Given the description of an element on the screen output the (x, y) to click on. 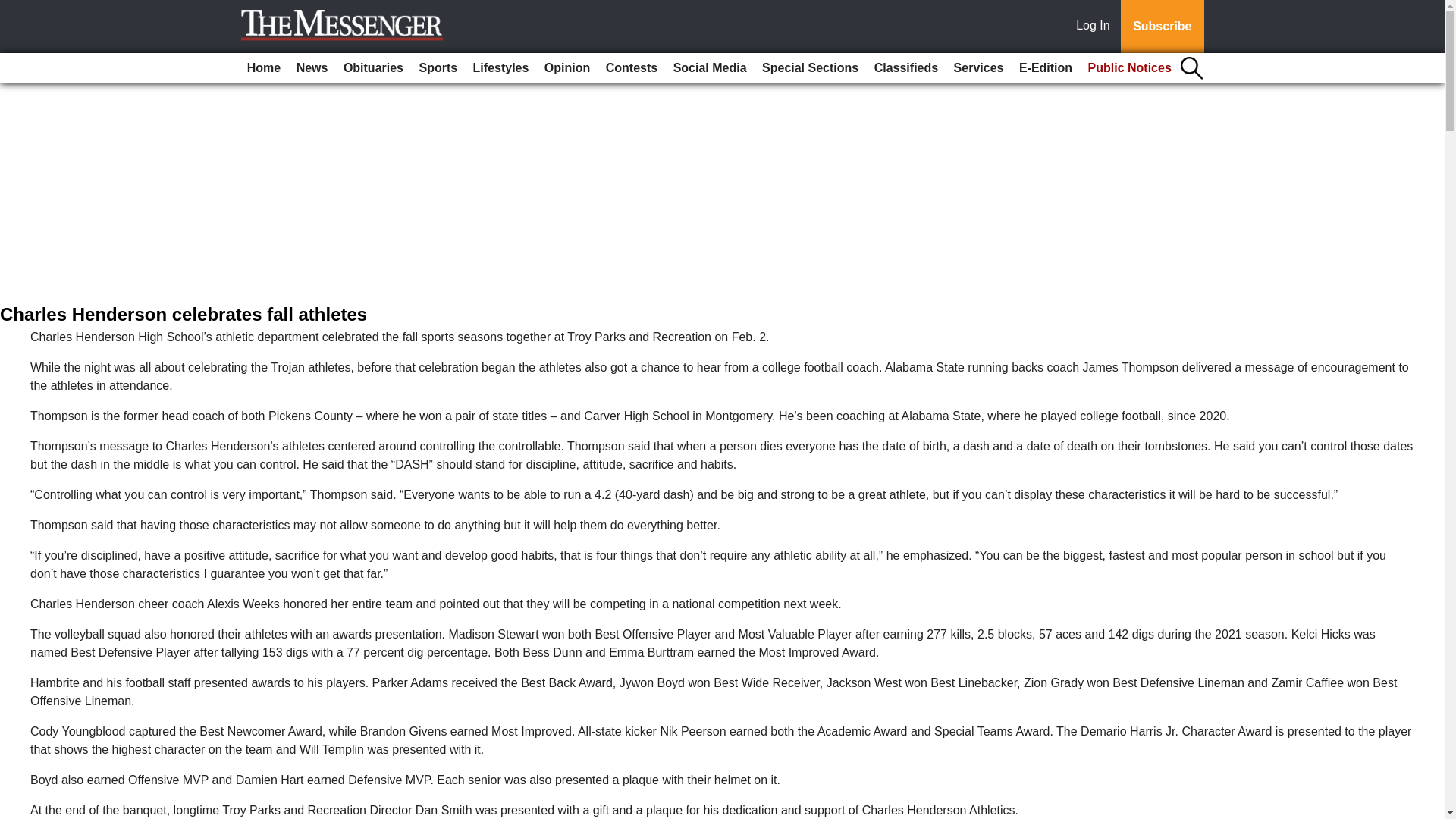
Log In (1095, 26)
Contests (631, 68)
Obituaries (373, 68)
Opinion (566, 68)
News (311, 68)
Sports (437, 68)
Home (263, 68)
Subscribe (1162, 26)
E-Edition (1045, 68)
Social Media (709, 68)
